Given the description of an element on the screen output the (x, y) to click on. 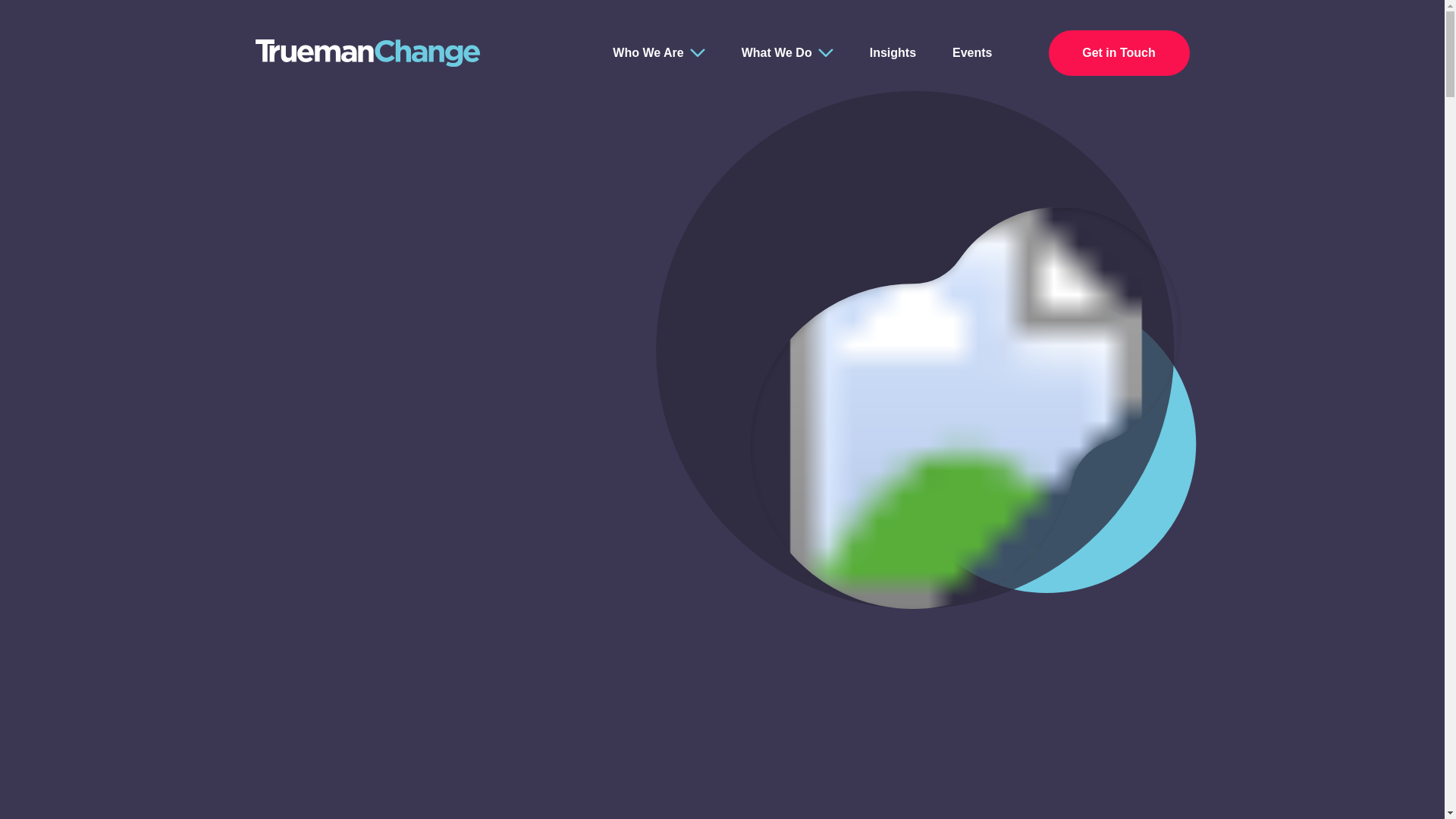
What We Do (776, 53)
Get in Touch (1118, 53)
Events (971, 53)
What We Do (776, 53)
Who We Are (647, 53)
Insights (892, 53)
Who We Are (647, 53)
